Given the description of an element on the screen output the (x, y) to click on. 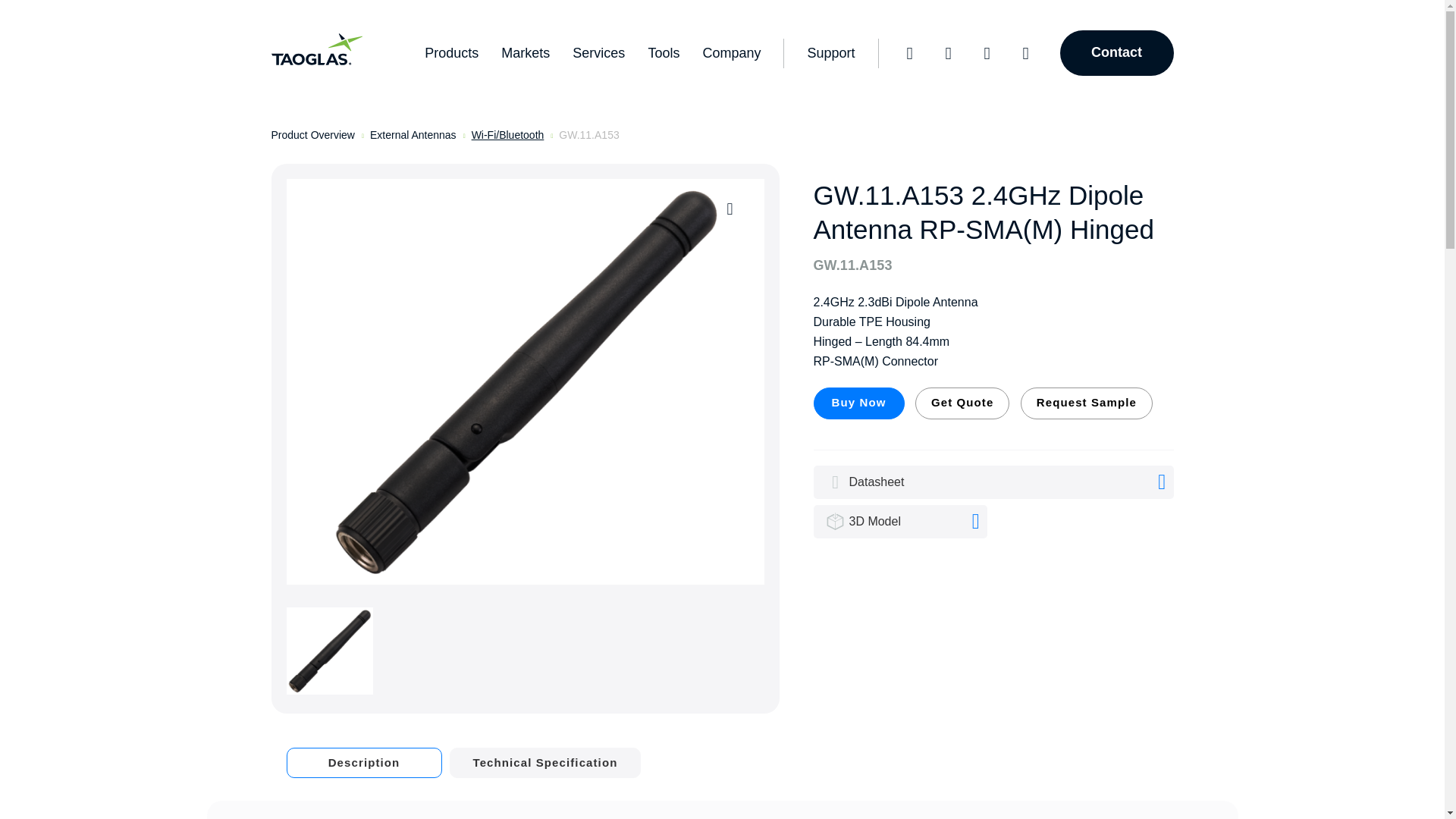
Products (651, 52)
